Given the description of an element on the screen output the (x, y) to click on. 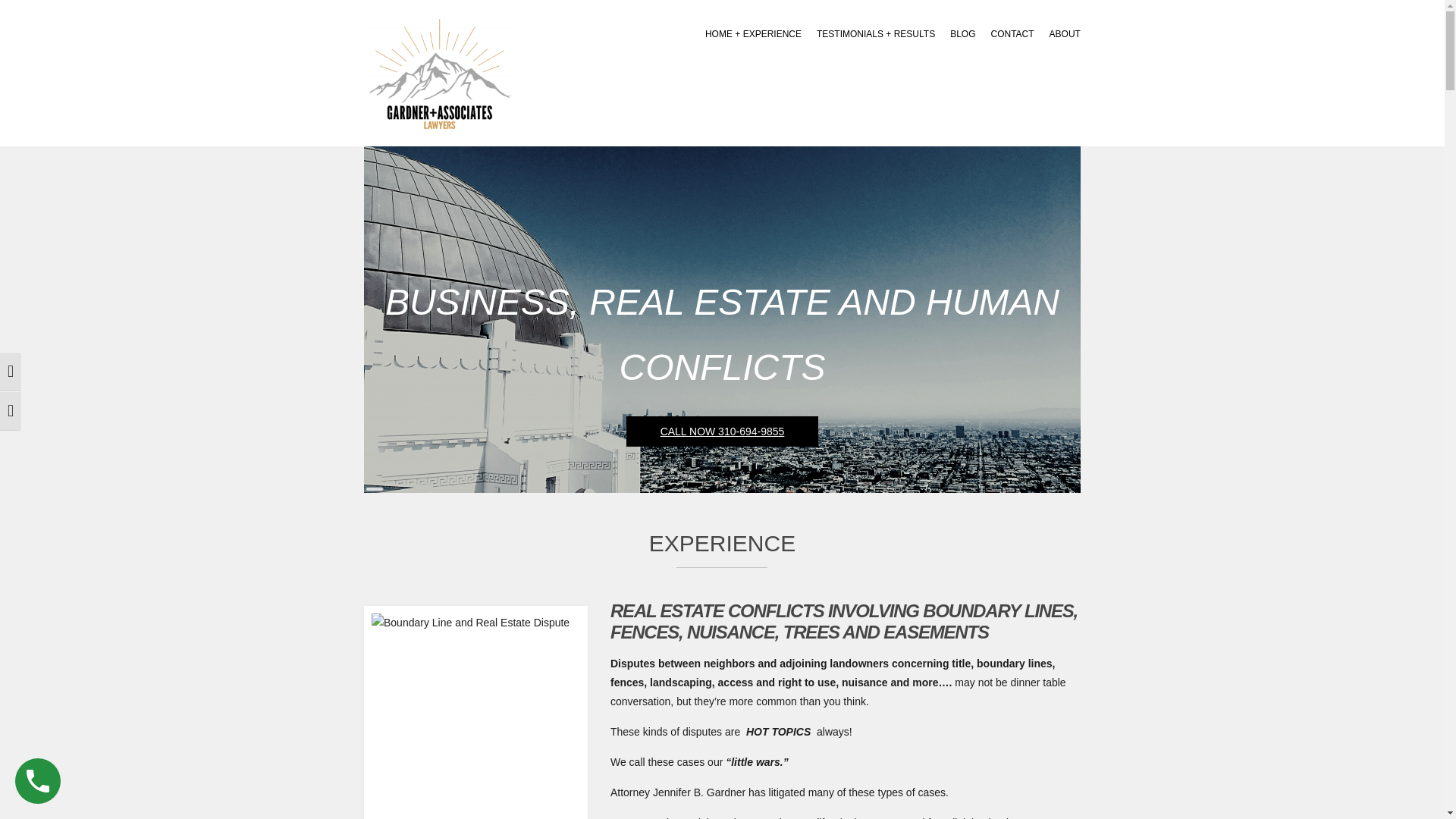
BLOG (962, 34)
CALL NOW 310-694-9855 (722, 431)
Long Description (374, 488)
ABOUT (1064, 34)
CONTACT (1011, 34)
